Given the description of an element on the screen output the (x, y) to click on. 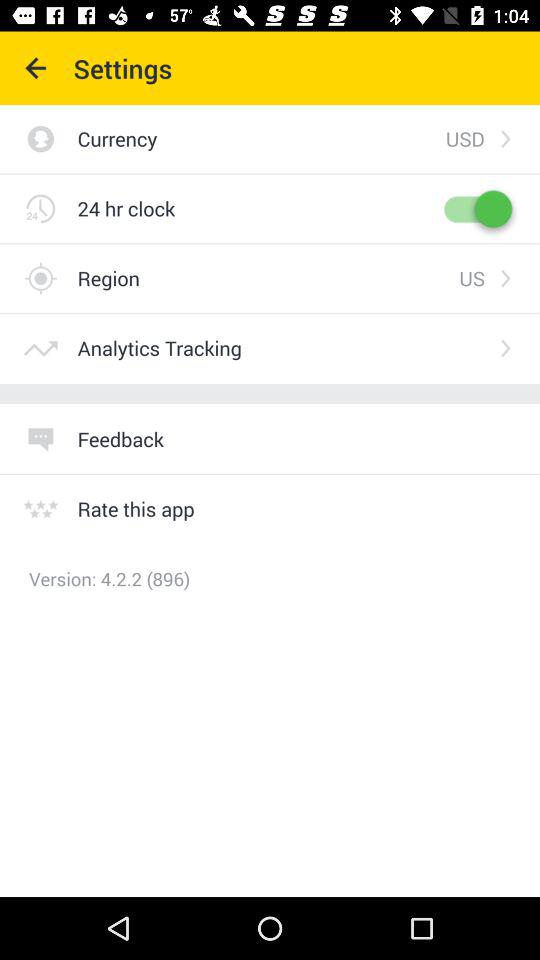
choose the icon to the left of the usd item (261, 138)
